Given the description of an element on the screen output the (x, y) to click on. 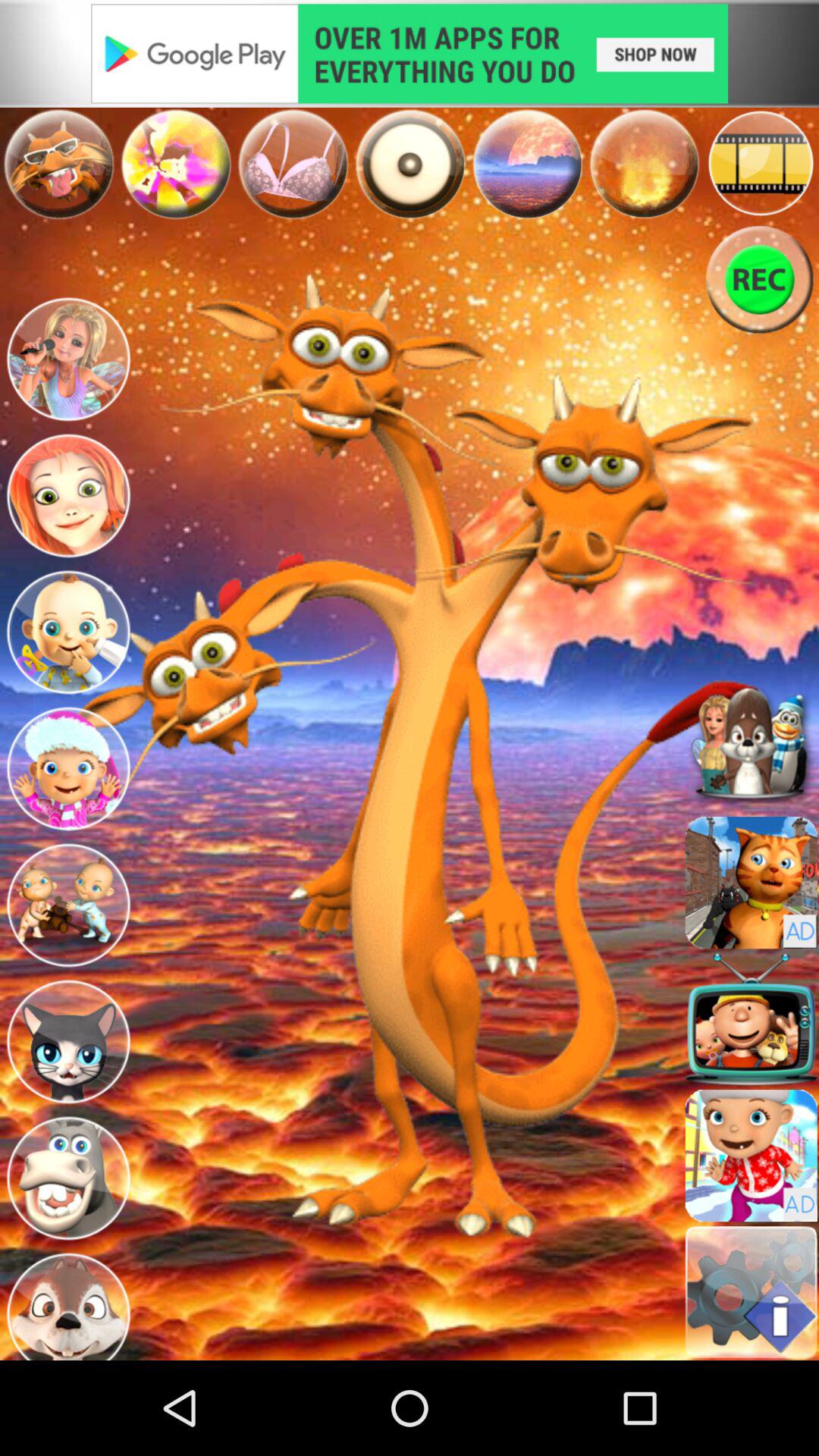
select the character (68, 632)
